Given the description of an element on the screen output the (x, y) to click on. 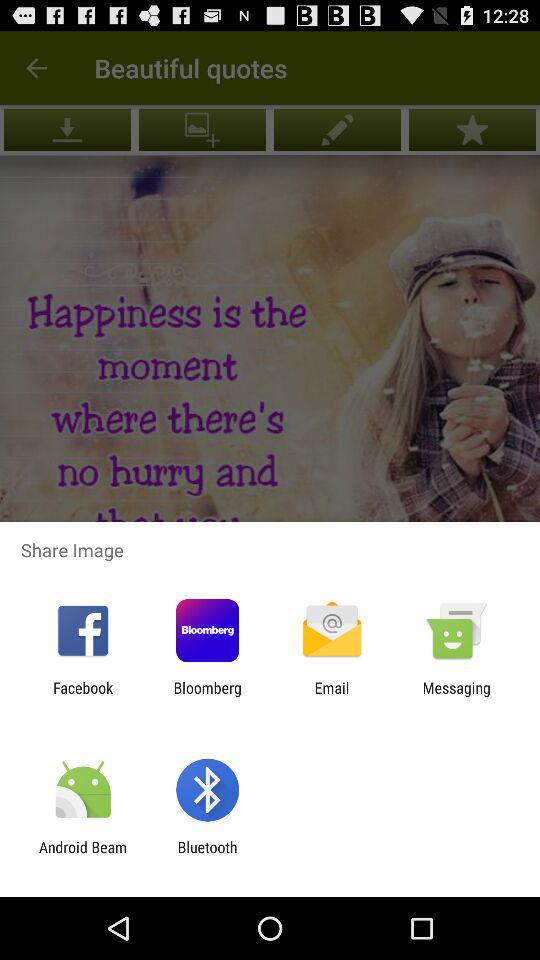
choose the email icon (331, 696)
